Given the description of an element on the screen output the (x, y) to click on. 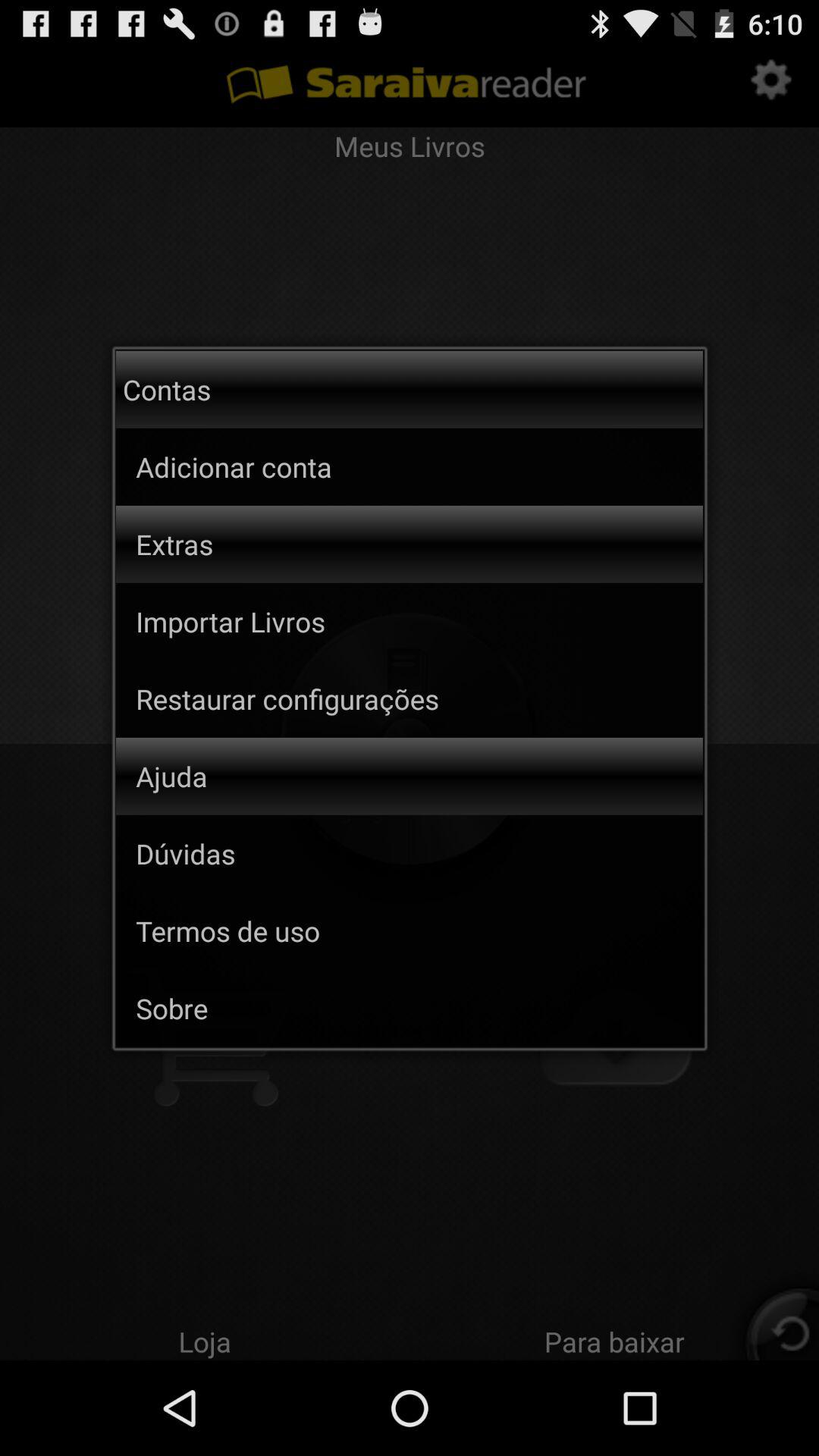
swipe to the adicionar conta                   item (295, 466)
